Given the description of an element on the screen output the (x, y) to click on. 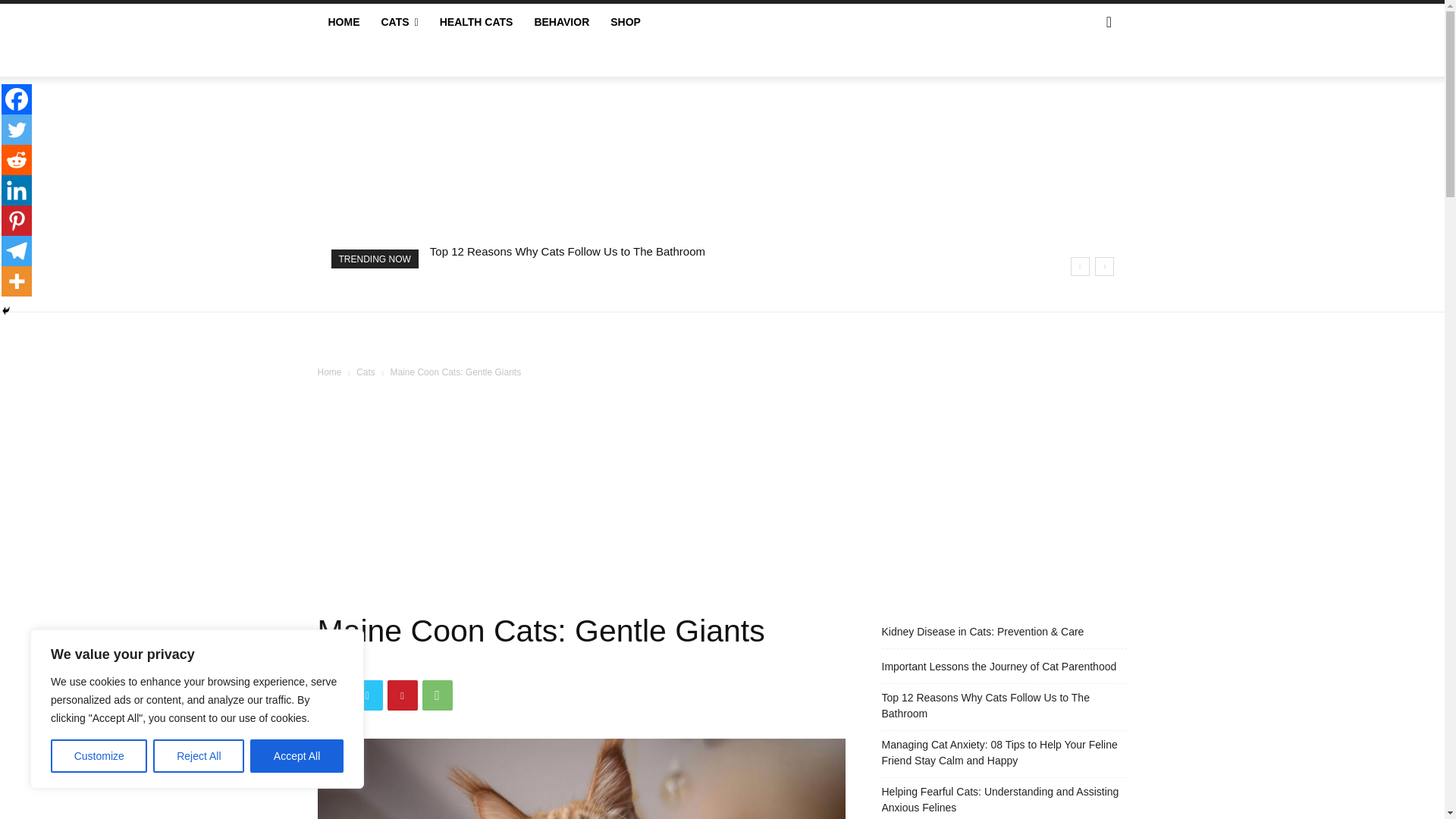
Top 12 Reasons Why Cats Follow Us to The Bathroom (566, 250)
Customize (98, 756)
View all posts in Cats (365, 371)
HEALTH CATS (476, 22)
SHOP (624, 22)
Top 12 Reasons Why Cats Follow Us to The Bathroom (566, 250)
HOME (343, 22)
BEHAVIOR (560, 22)
Reject All (198, 756)
CATS (398, 22)
CATS LOVERS (721, 140)
Accept All (296, 756)
CATS LOVERS (722, 140)
